Given the description of an element on the screen output the (x, y) to click on. 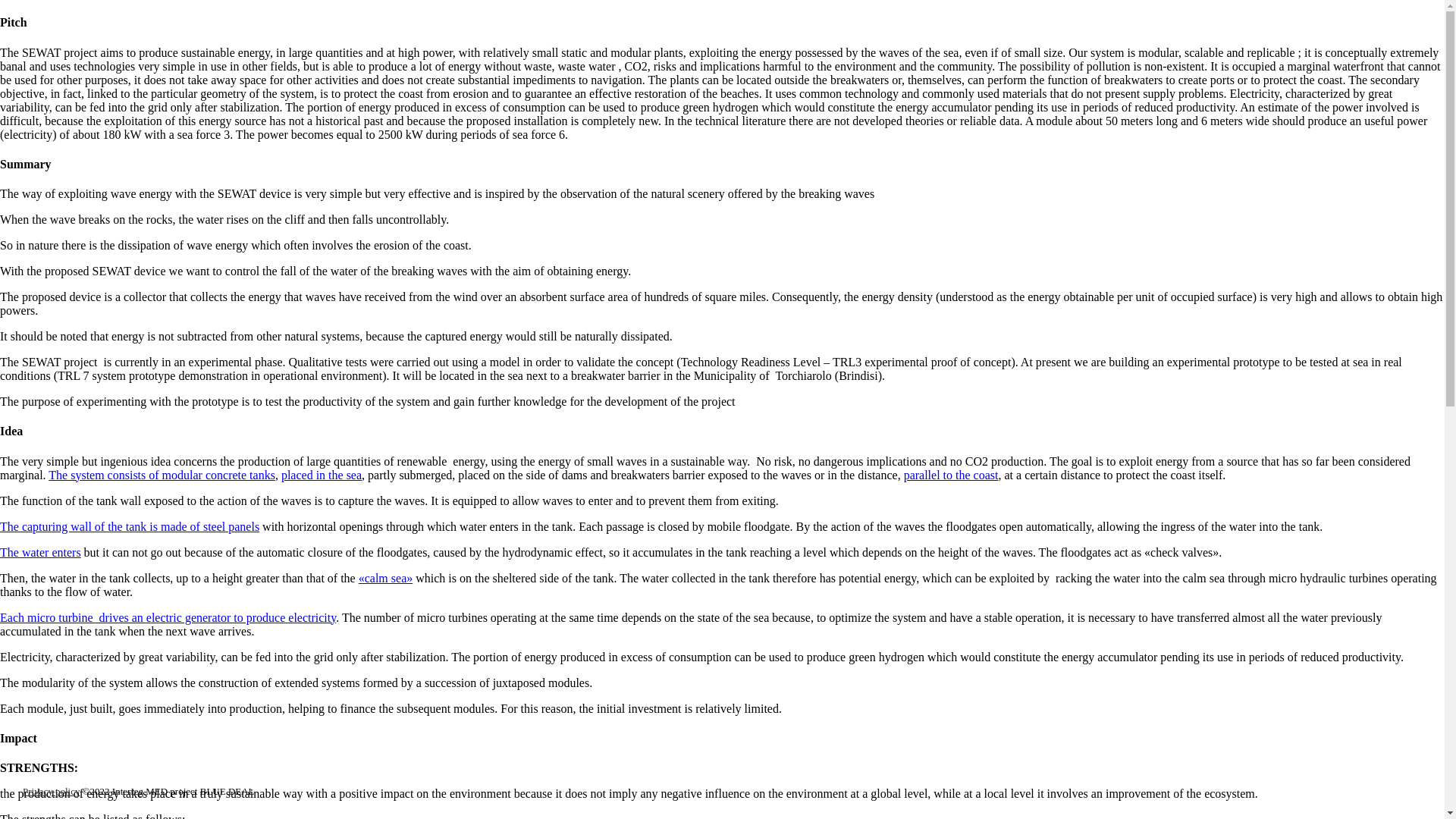
The system consists of modular concrete tanks (161, 474)
parallel to the coast (951, 474)
placed in the sea (321, 474)
The capturing wall of the tank is made of steel panels (129, 526)
The water enters (40, 552)
Privacy policy (51, 790)
